Given the description of an element on the screen output the (x, y) to click on. 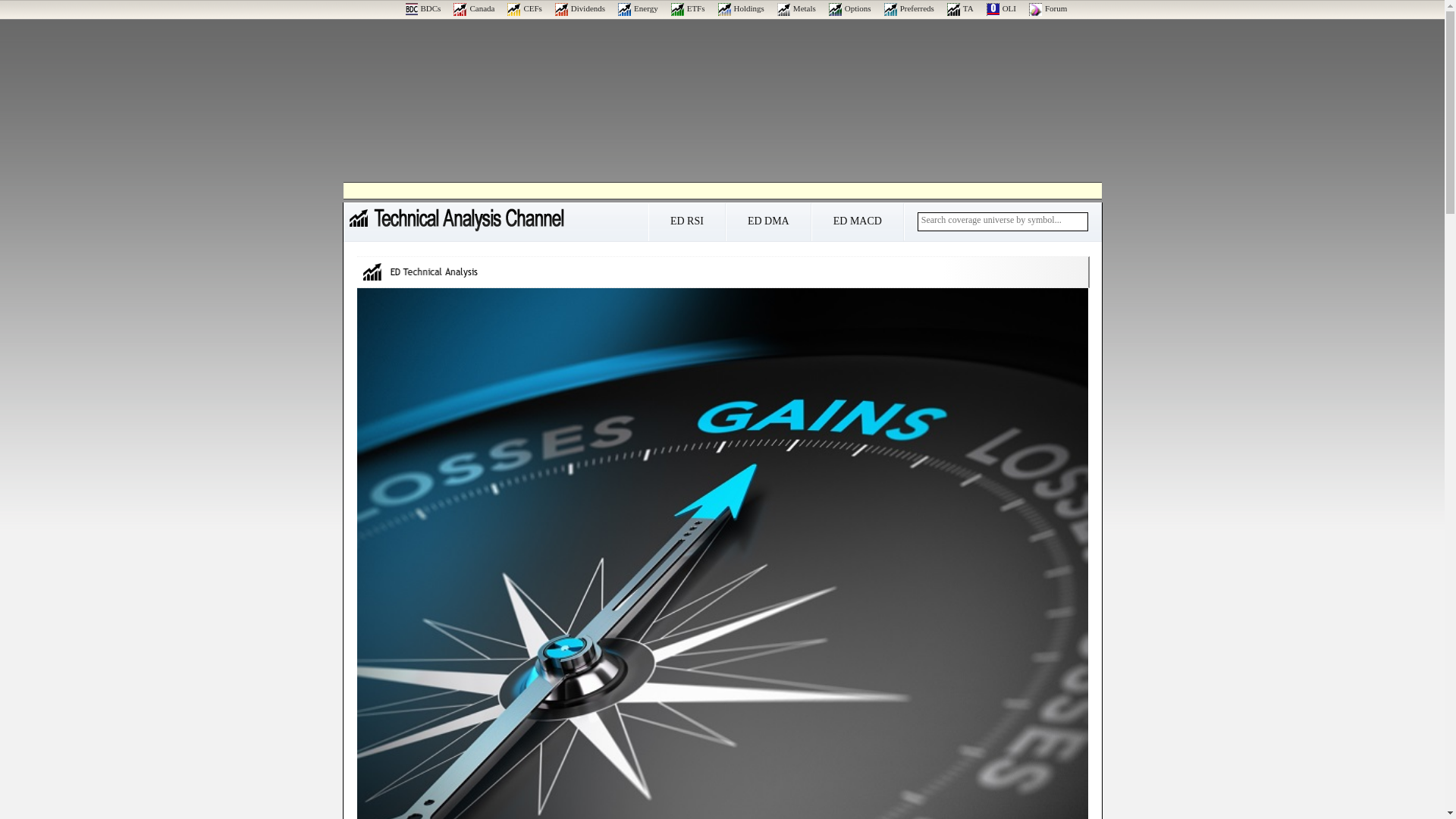
Holdings Channel (740, 8)
Options (849, 8)
ED MACD (856, 225)
BDCs (422, 8)
ETFs (687, 8)
Dividend Channel (579, 8)
Preferreds (908, 8)
ETF Channel (687, 8)
CEF Channel (523, 8)
BDC Investor (422, 8)
OLI (1001, 8)
ED DMA (767, 225)
TA (960, 8)
ValueForum (1048, 8)
CEFs (523, 8)
